Given the description of an element on the screen output the (x, y) to click on. 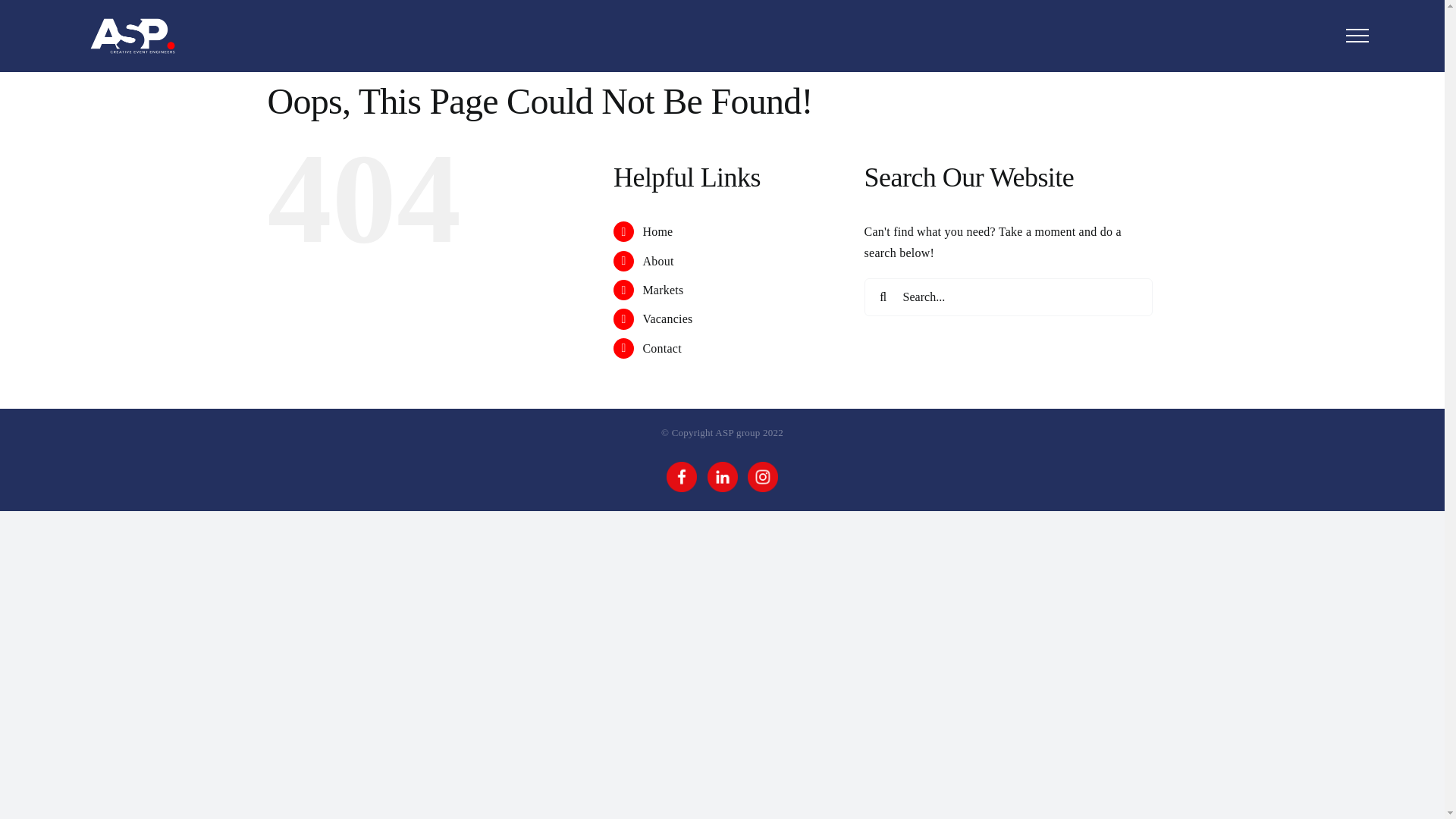
Contact Element type: text (661, 348)
Home Element type: text (657, 231)
About Element type: text (657, 260)
Vacancies Element type: text (667, 318)
Markets Element type: text (662, 289)
